Given the description of an element on the screen output the (x, y) to click on. 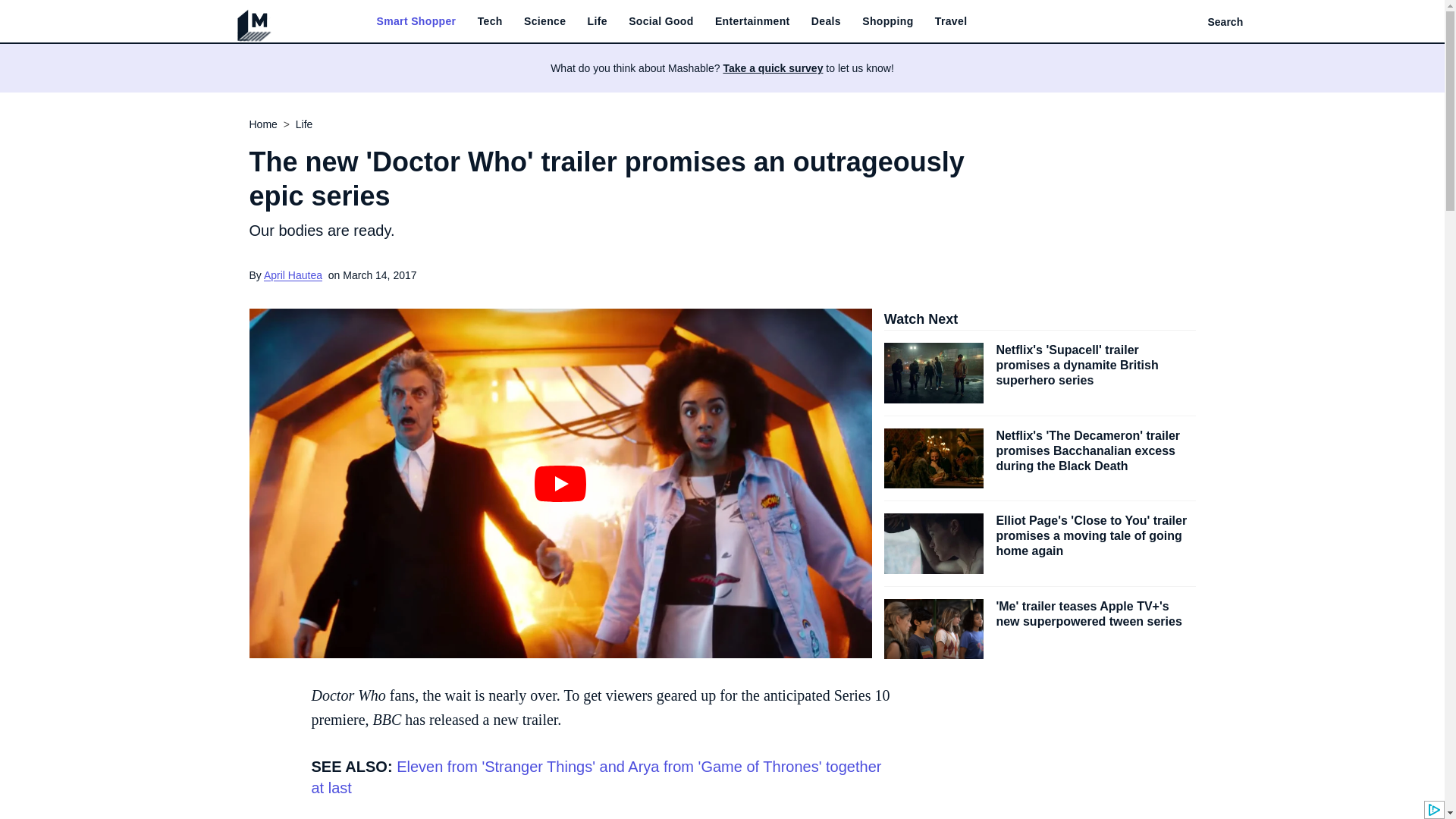
Tech (489, 21)
Shopping (886, 21)
Entertainment (752, 21)
Travel (951, 21)
Life (597, 21)
Social Good (661, 21)
Deals (825, 21)
Science (545, 21)
Play (560, 484)
Smart Shopper (415, 21)
